Given the description of an element on the screen output the (x, y) to click on. 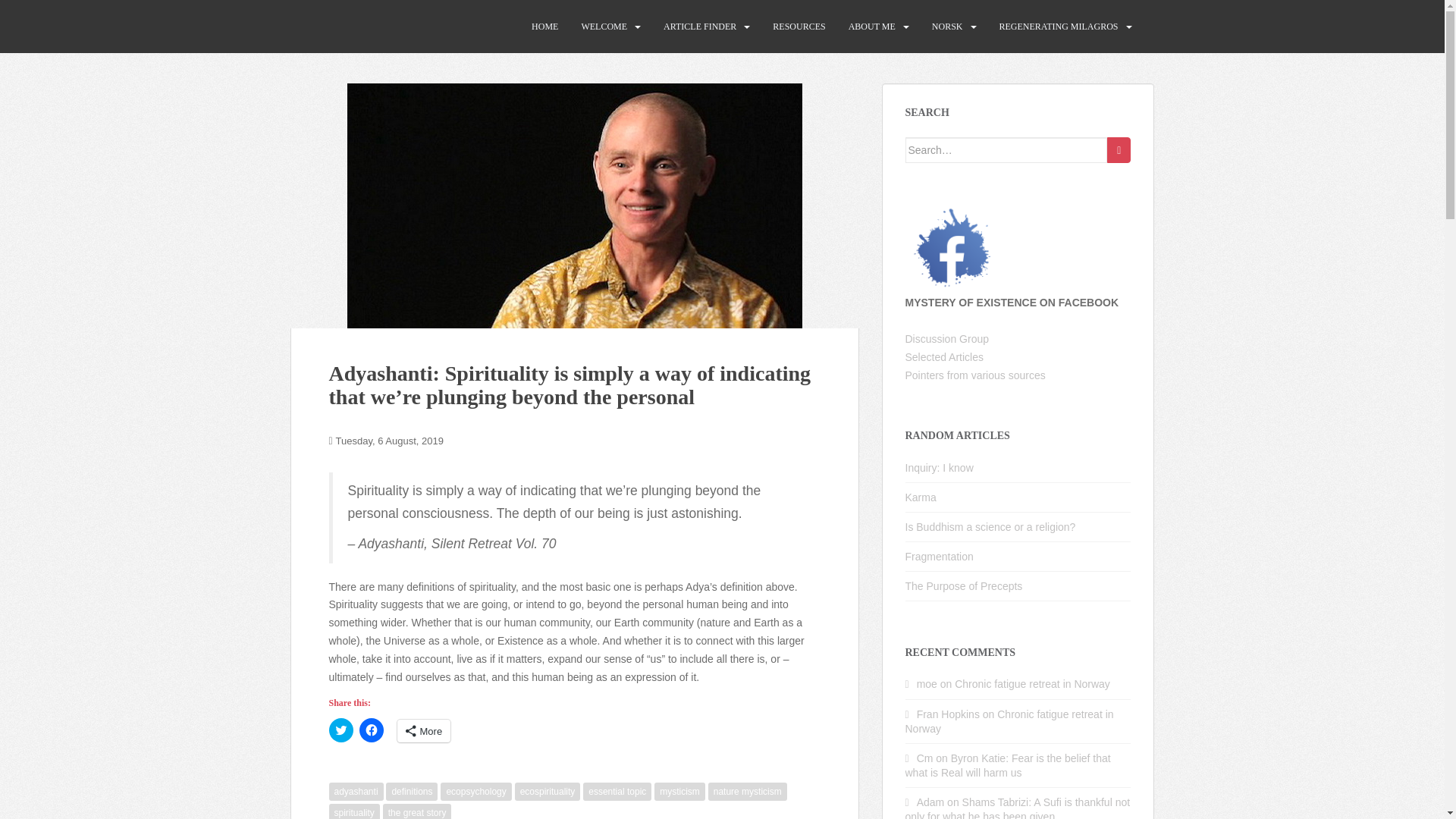
REGENERATING MILAGROS (1058, 26)
ARTICLE FINDER (699, 26)
WELCOME (603, 26)
ecopsychology (476, 791)
NORSK (946, 26)
definitions (411, 791)
Click to share on Facebook (371, 730)
Click to share on Twitter (341, 730)
Mystery of Existence (368, 26)
More (424, 730)
